Given the description of an element on the screen output the (x, y) to click on. 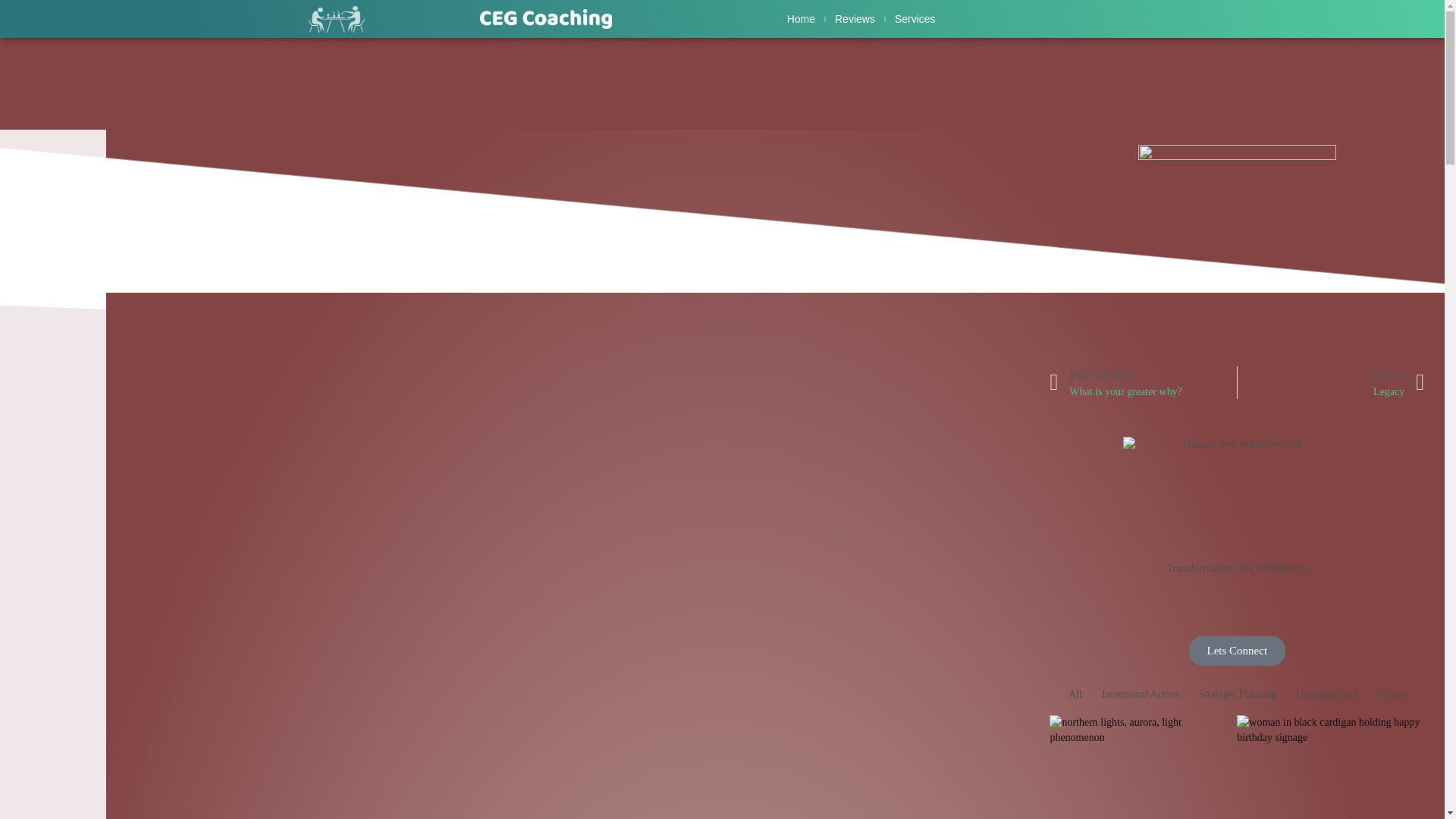
Reviews (854, 18)
Services (1142, 382)
Home (914, 18)
Lets Connect (800, 18)
